Given the description of an element on the screen output the (x, y) to click on. 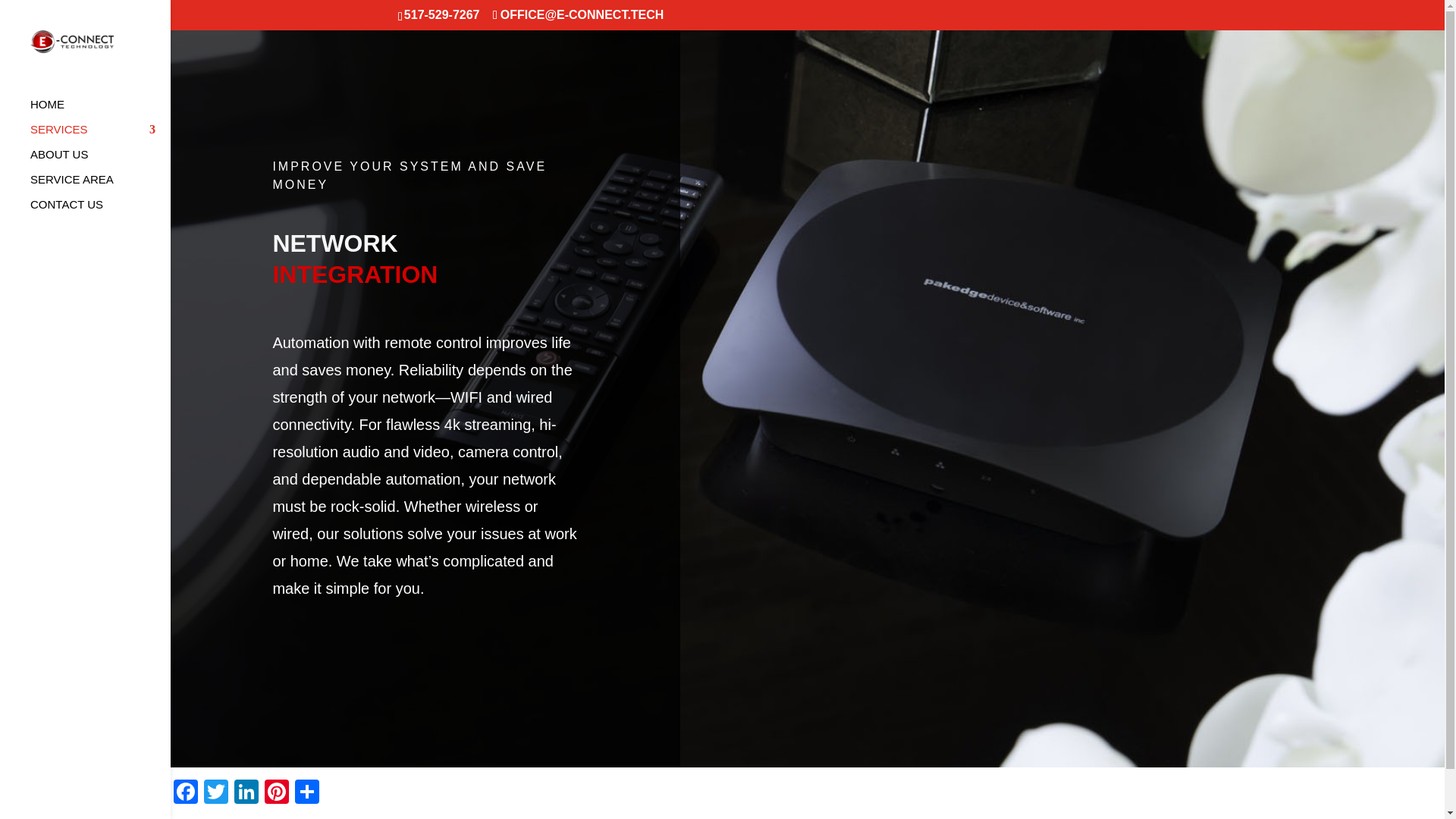
LinkedIn (246, 793)
HOME (100, 111)
LinkedIn (246, 793)
Facebook (185, 793)
SERVICE AREA (100, 186)
Pinterest (277, 793)
Twitter (215, 793)
Facebook (185, 793)
CONTACT US (100, 211)
Twitter (215, 793)
SERVICES (100, 136)
Pinterest (277, 793)
ABOUT US (100, 161)
